Given the description of an element on the screen output the (x, y) to click on. 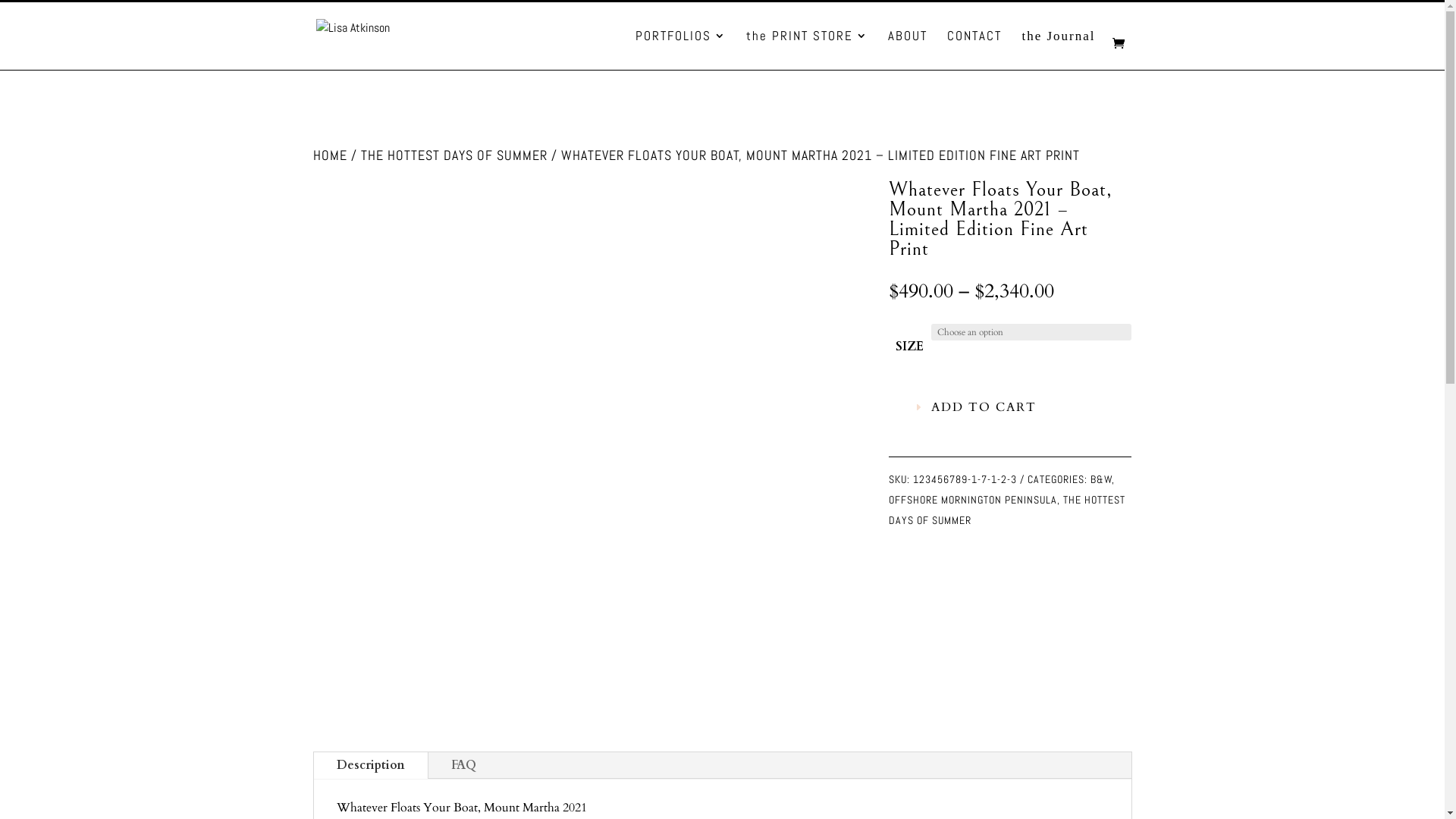
B&W Element type: text (1101, 479)
PORTFOLIOS Element type: text (680, 49)
THE HOTTEST DAYS OF SUMMER Element type: text (453, 155)
OFFSHORE MORNINGTON PENINSULA Element type: text (972, 499)
the Journal Element type: text (1058, 50)
FAQ Element type: text (462, 765)
Description Element type: text (370, 765)
ABOUT Element type: text (907, 49)
THE HOTTEST DAYS OF SUMMER Element type: text (1006, 509)
ADD TO CART Element type: text (975, 407)
CONTACT Element type: text (974, 49)
HOME Element type: text (329, 155)
the PRINT STORE Element type: text (807, 49)
